Given the description of an element on the screen output the (x, y) to click on. 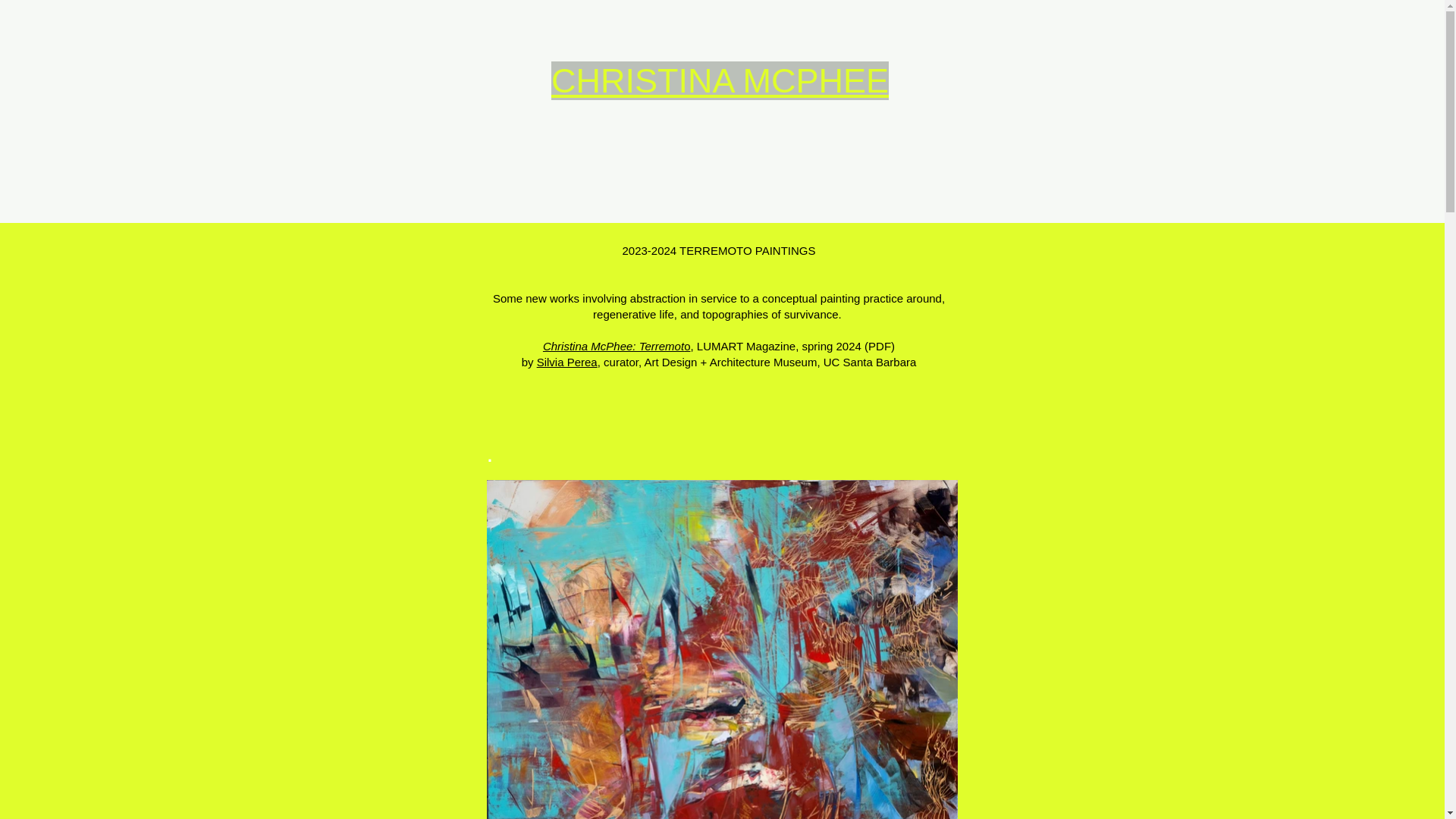
Silvia Perea (566, 361)
CHRISTINA MCPHEE (719, 80)
